Given the description of an element on the screen output the (x, y) to click on. 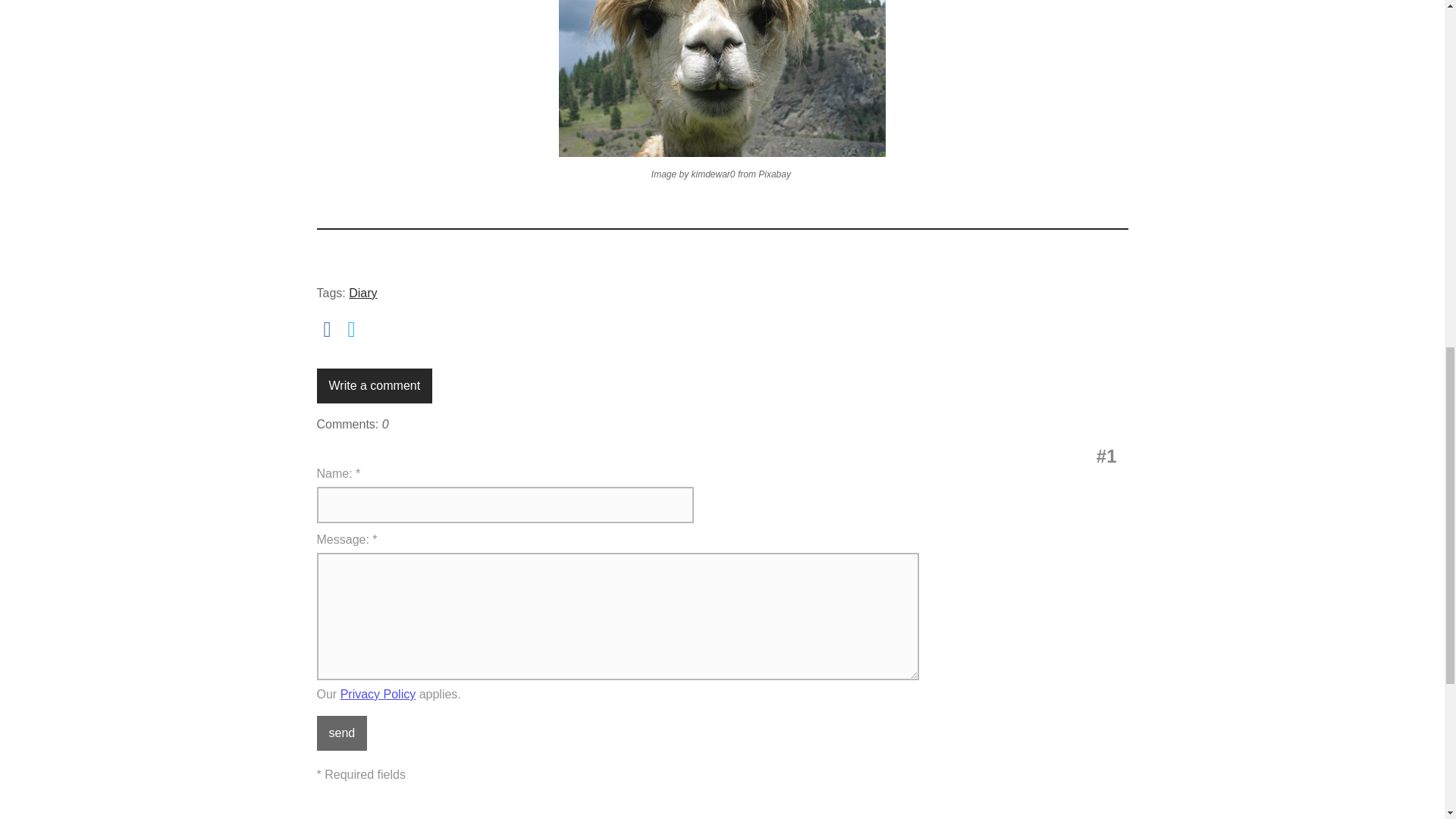
send (342, 733)
Write a comment (374, 385)
Facebook (327, 329)
Diary (363, 292)
Privacy Policy (378, 694)
Twitter (351, 329)
send (342, 733)
